Given the description of an element on the screen output the (x, y) to click on. 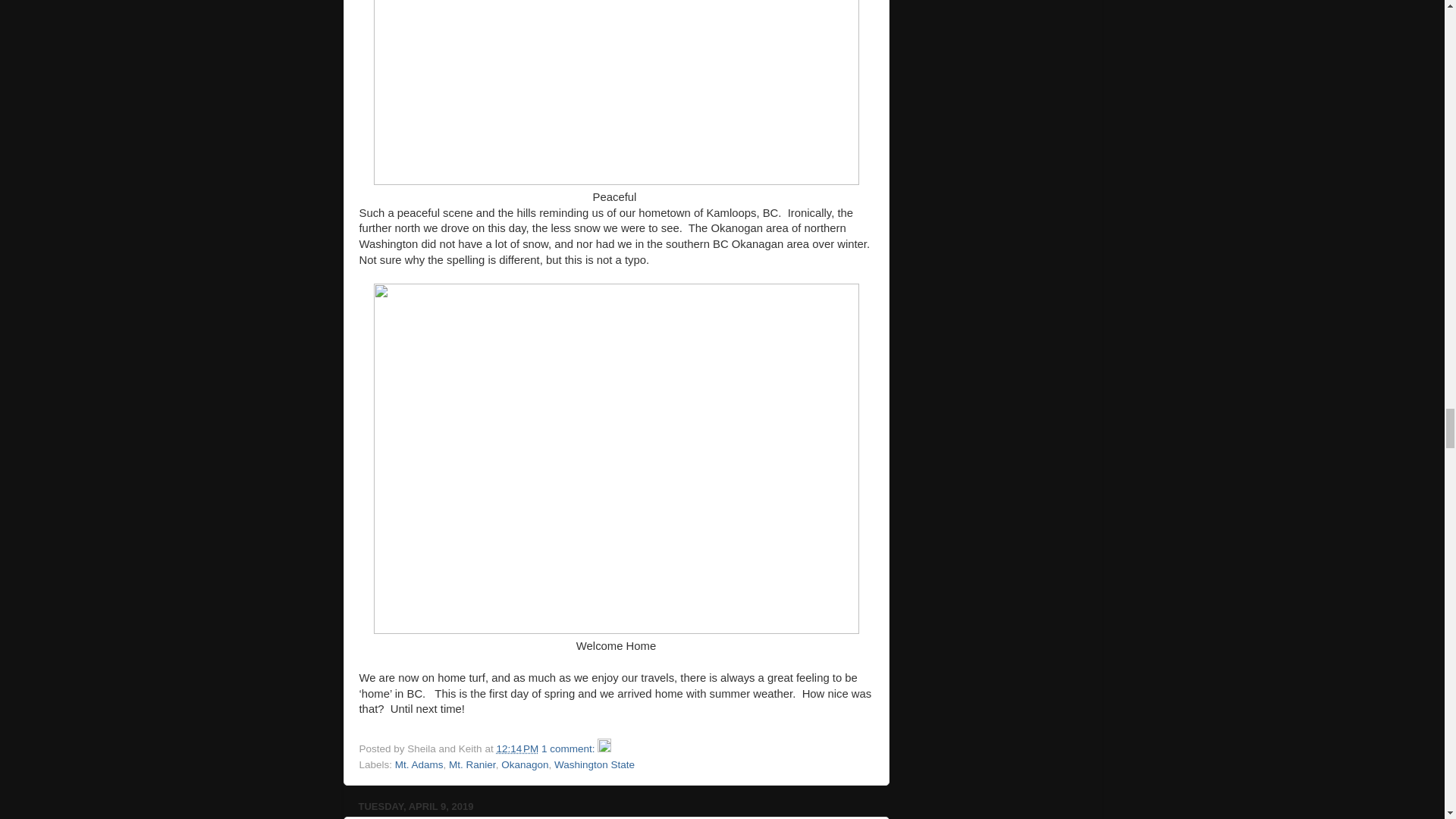
1 comment: (568, 748)
permanent link (517, 748)
Edit Post (603, 748)
